Given the description of an element on the screen output the (x, y) to click on. 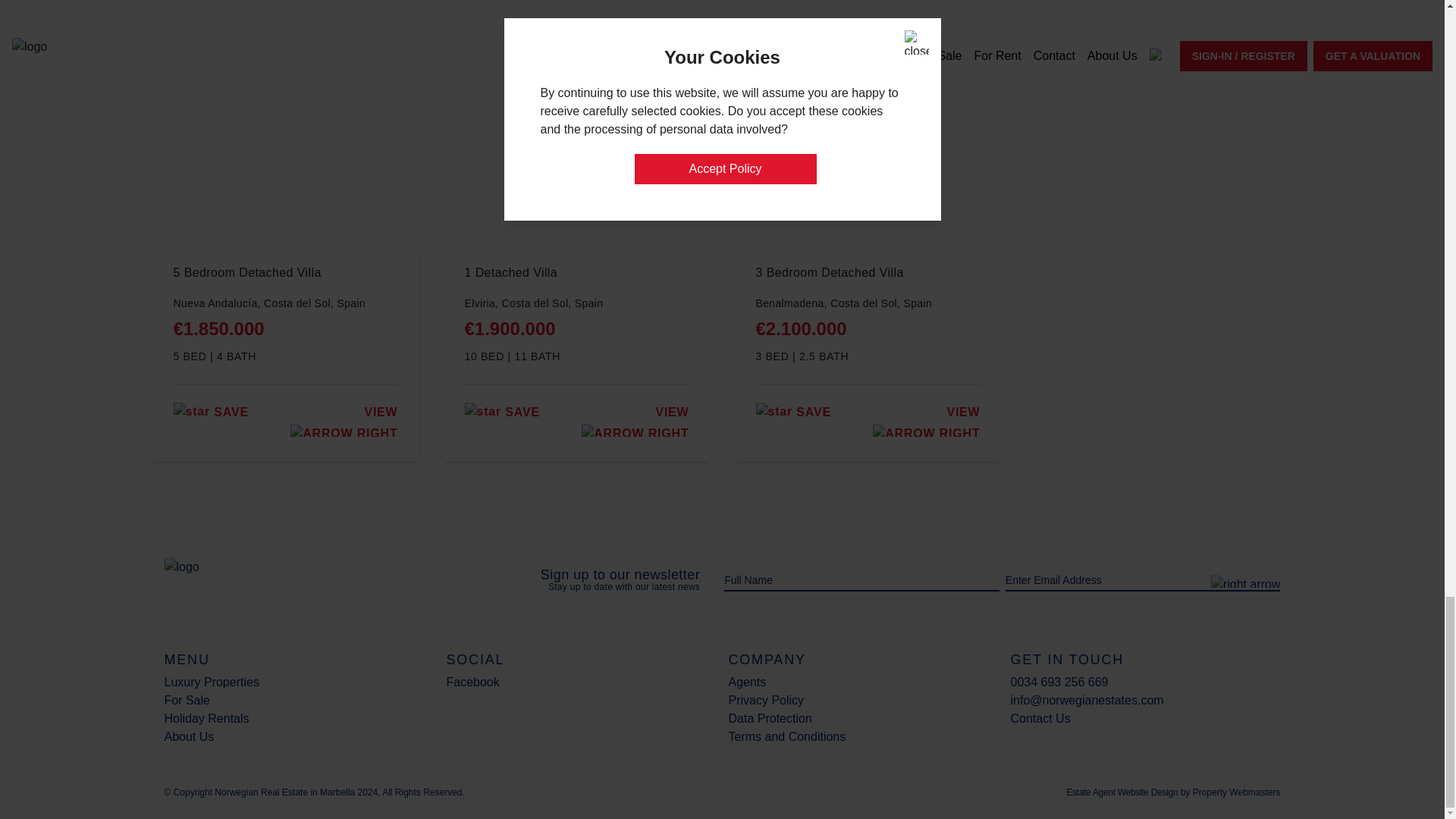
Elviria, Costa del Sol, Spain (576, 303)
1 Detached Villa (576, 280)
Save (501, 411)
Save (210, 411)
View this property (632, 421)
5 Bedroom Detached Villa (285, 280)
View this property (341, 421)
